Given the description of an element on the screen output the (x, y) to click on. 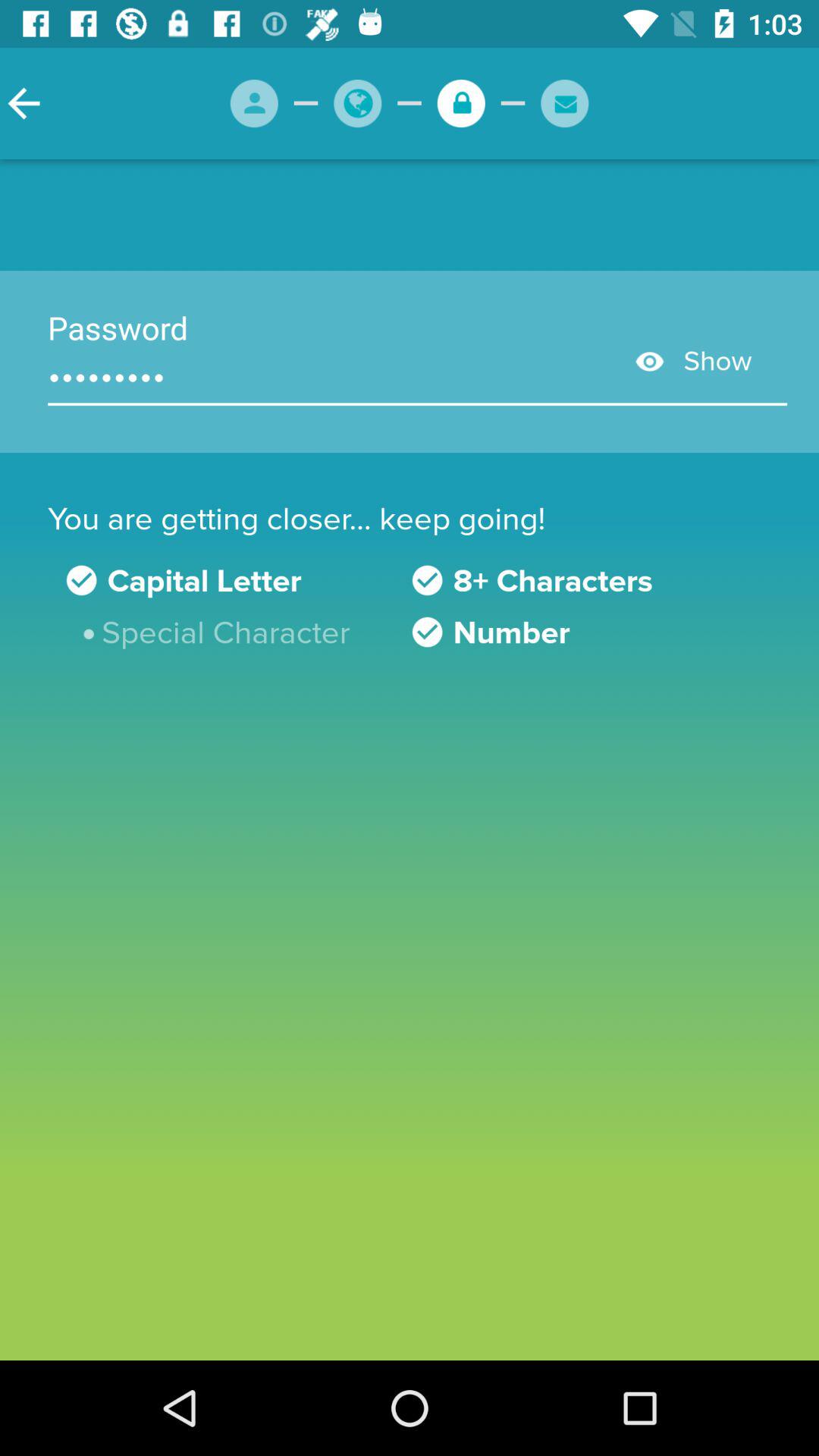
go back a page (23, 103)
